Given the description of an element on the screen output the (x, y) to click on. 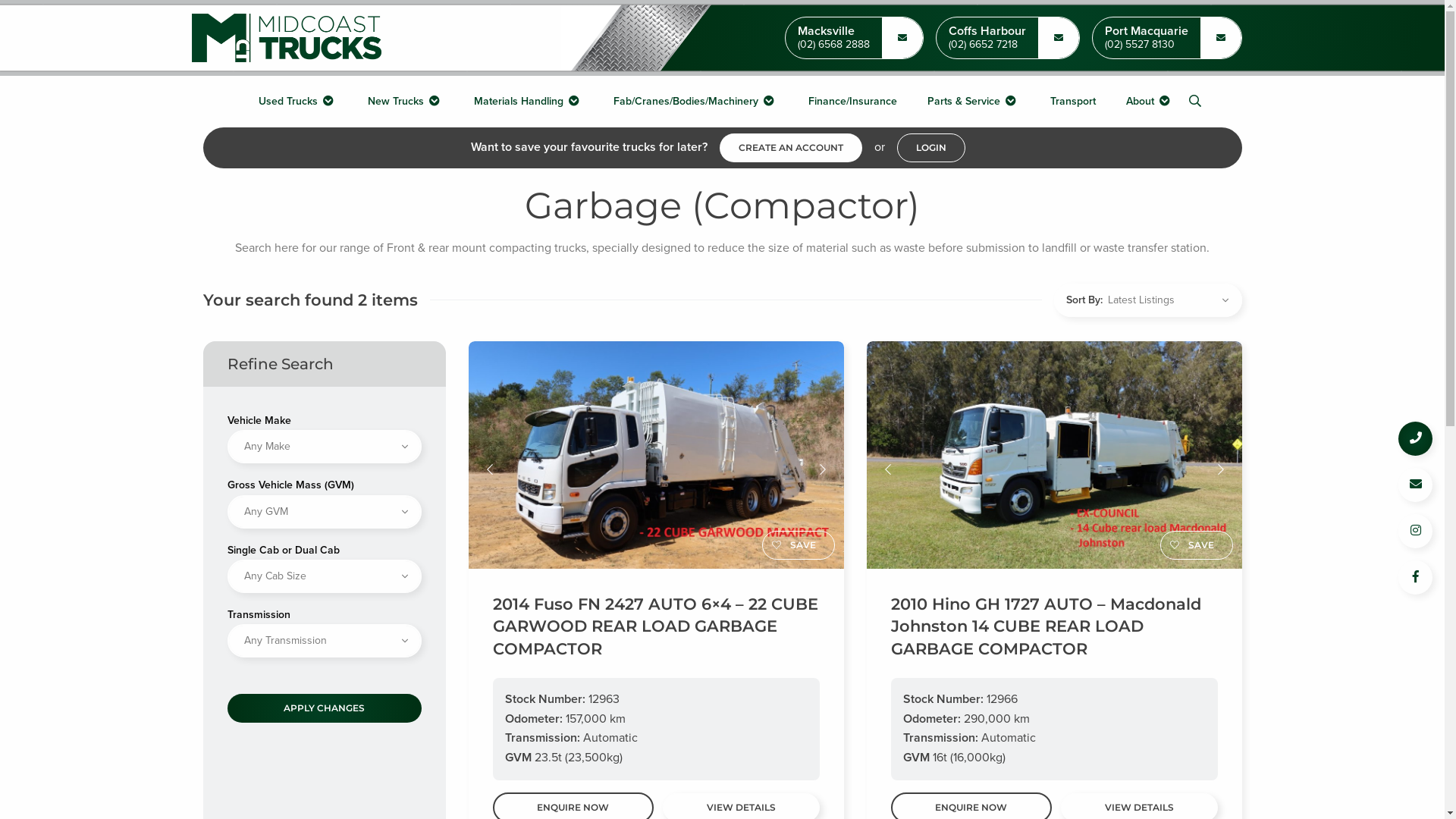
SAVE Element type: text (1196, 544)
Fab/Cranes/Bodies/Machinery Element type: text (695, 101)
APPLY CHANGES Element type: text (324, 707)
(02) 6568 2888 Element type: text (833, 44)
About Element type: text (1149, 101)
Transport Element type: text (1072, 101)
Parts & Service Element type: text (973, 101)
Materials Handling Element type: text (528, 101)
Finance/Insurance Element type: text (852, 101)
(02) 6652 7218 Element type: text (986, 44)
LOGIN Element type: text (930, 147)
Midcoast Trucks Element type: text (285, 37)
SAVE Element type: text (797, 544)
(02) 5527 8130 Element type: text (1145, 44)
Used Trucks Element type: text (297, 101)
New Trucks Element type: text (405, 101)
CREATE AN ACCOUNT Element type: text (789, 147)
